Given the description of an element on the screen output the (x, y) to click on. 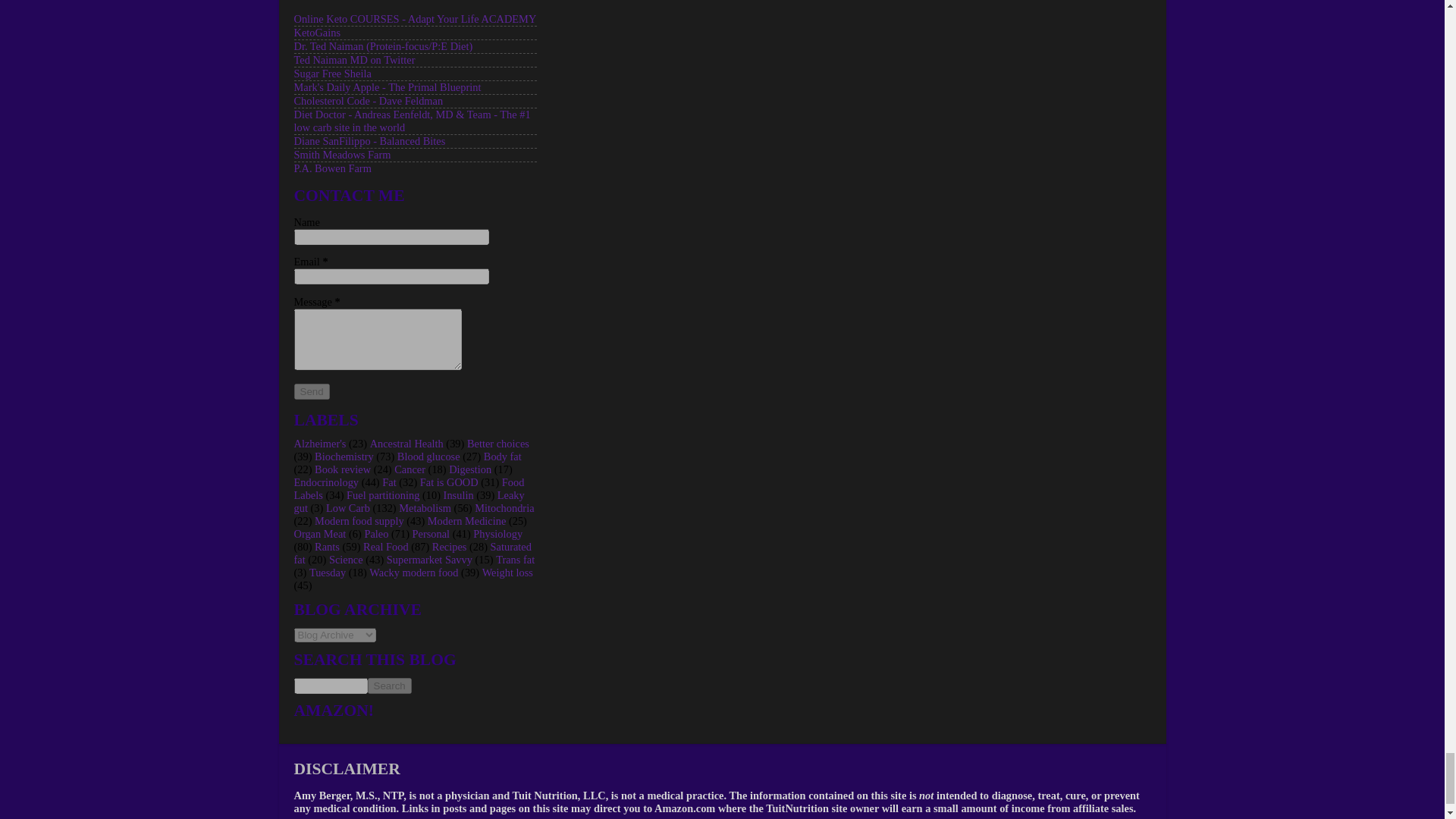
search (388, 685)
Search (388, 685)
search (331, 685)
Send (312, 391)
Search (388, 685)
